Given the description of an element on the screen output the (x, y) to click on. 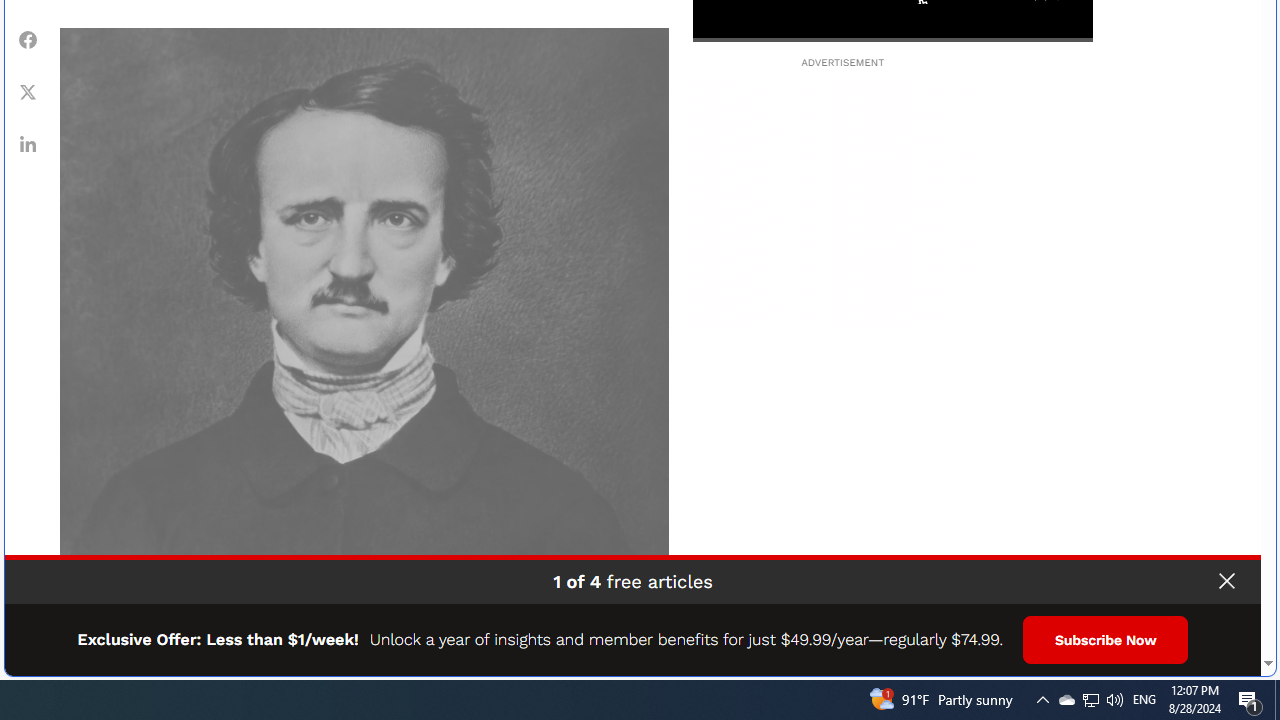
Class: fs-icon fs-icon--linkedin (1091, 699)
Notification Chevron (28, 143)
Show desktop (1042, 699)
Share Linkedin (1277, 699)
User Promoted Notification Area (28, 143)
Action Center, 1 new notification (1090, 699)
